Given the description of an element on the screen output the (x, y) to click on. 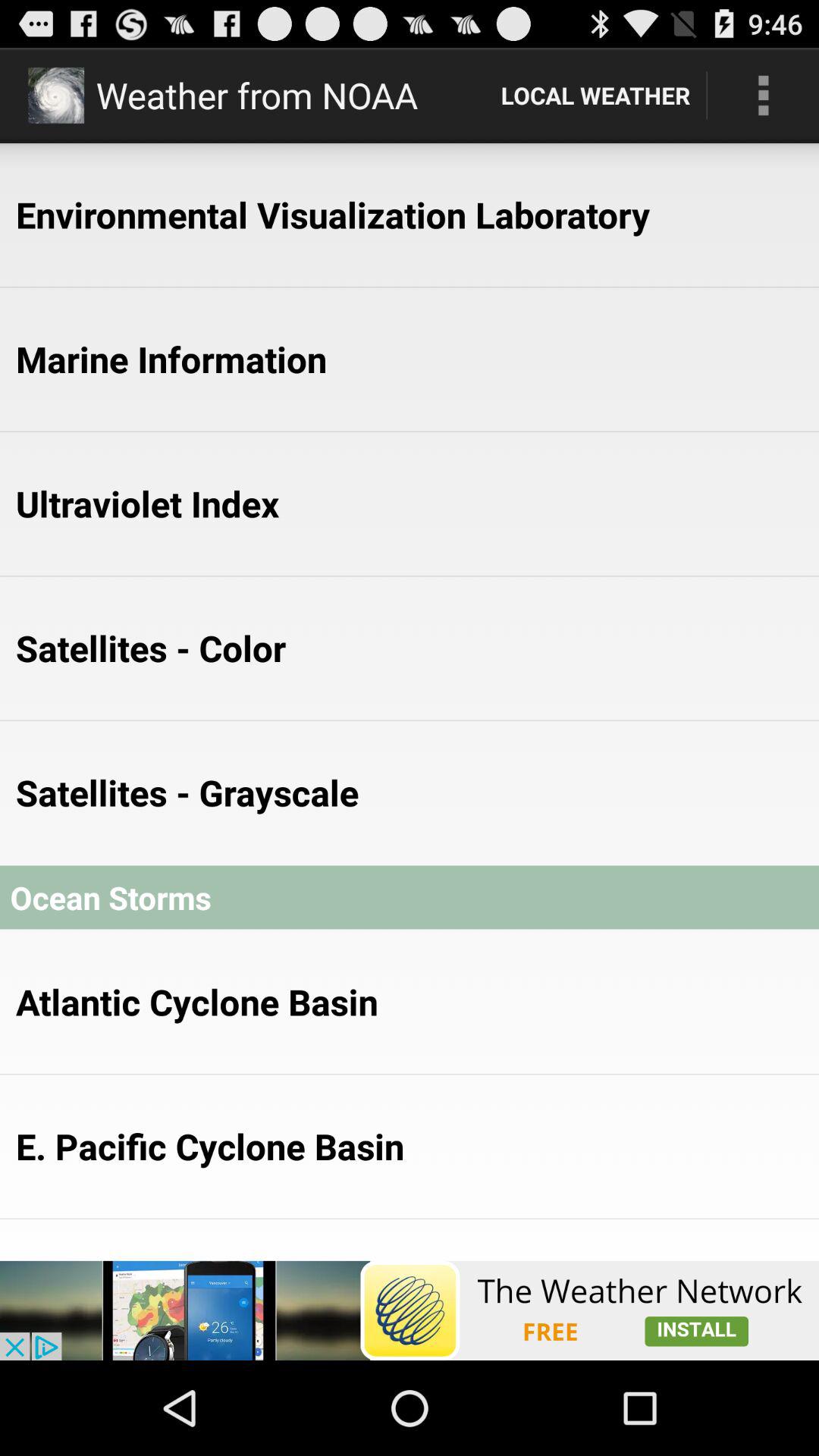
connect to advertisement (409, 1310)
